Given the description of an element on the screen output the (x, y) to click on. 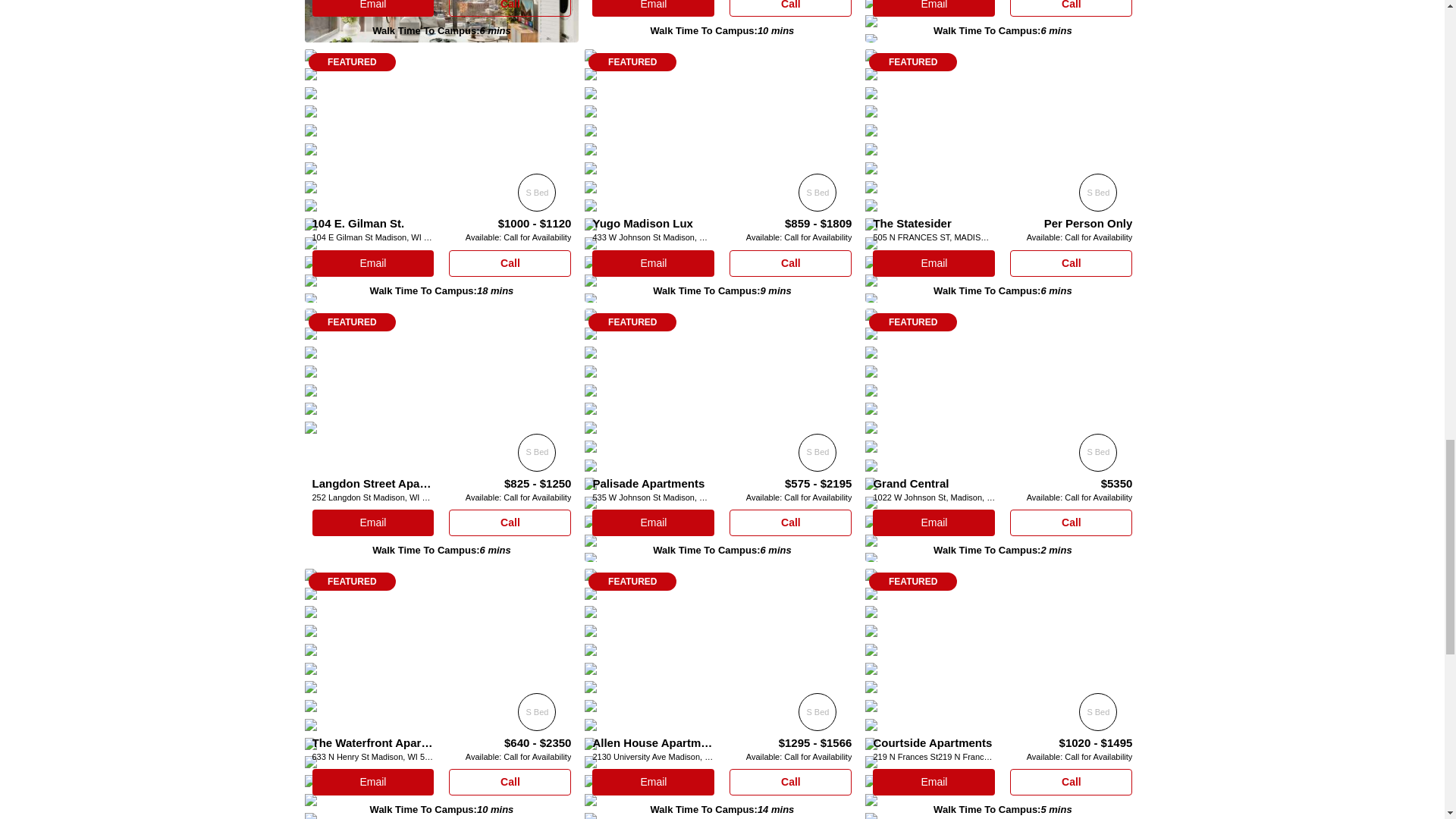
Email (373, 8)
S Bed (537, 192)
104 E. Gilman St. (358, 223)
Call (790, 8)
Email (653, 8)
Call (509, 8)
Email (933, 8)
Email (373, 263)
Call (1071, 8)
